Given the description of an element on the screen output the (x, y) to click on. 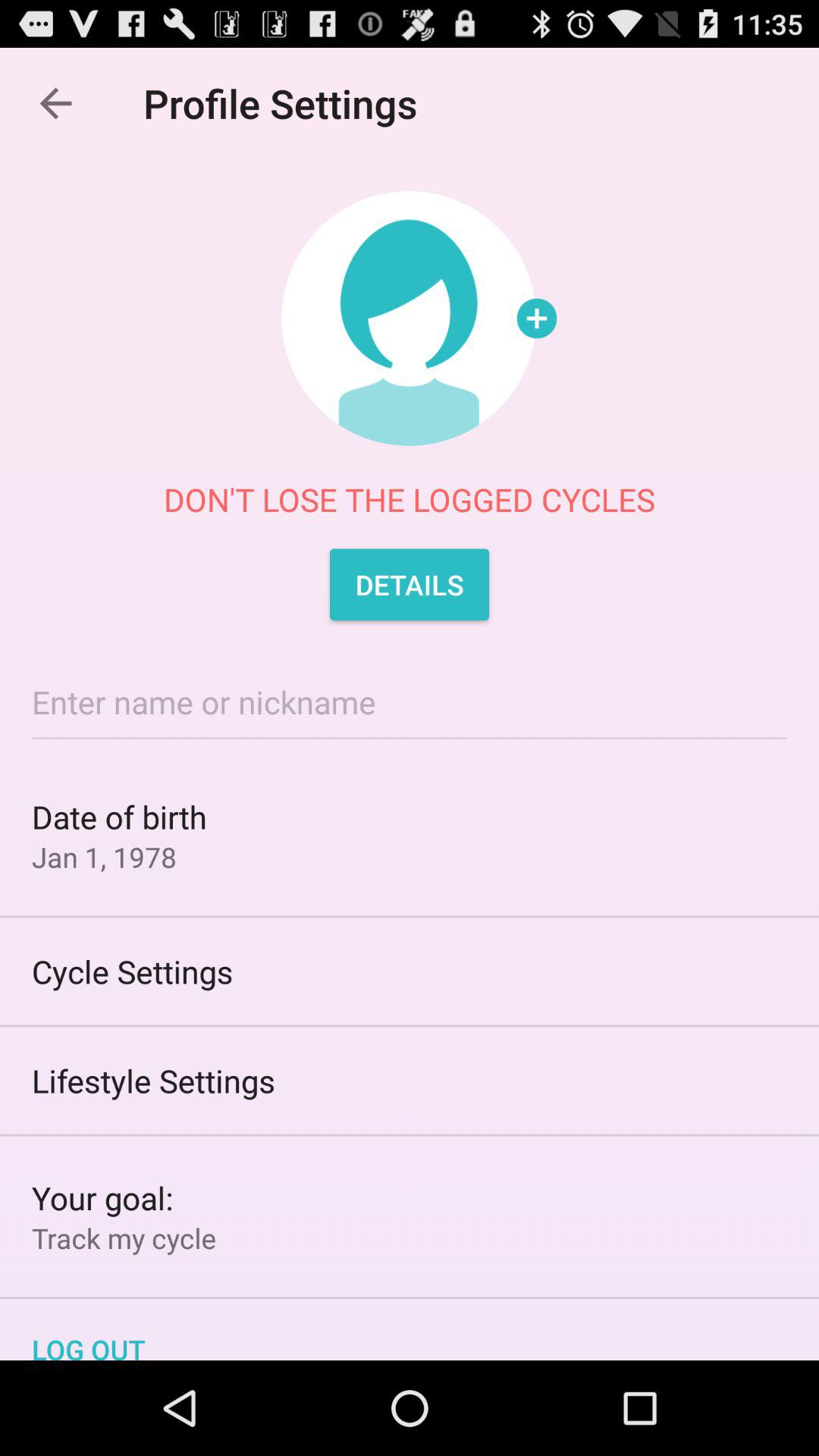
tap the icon at the top left corner (55, 103)
